Given the description of an element on the screen output the (x, y) to click on. 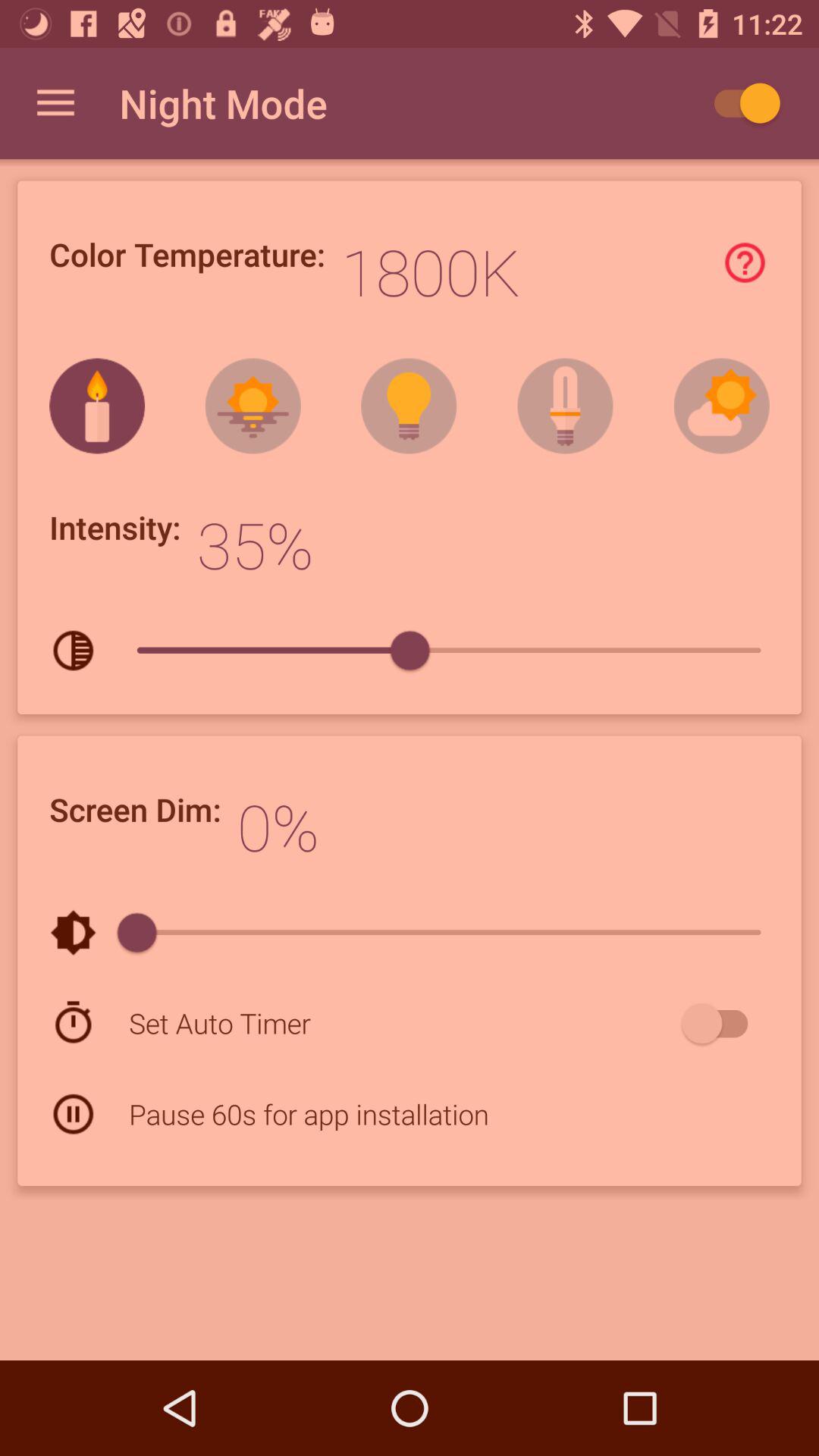
choose the item to the right of set auto timer item (722, 1023)
